Given the description of an element on the screen output the (x, y) to click on. 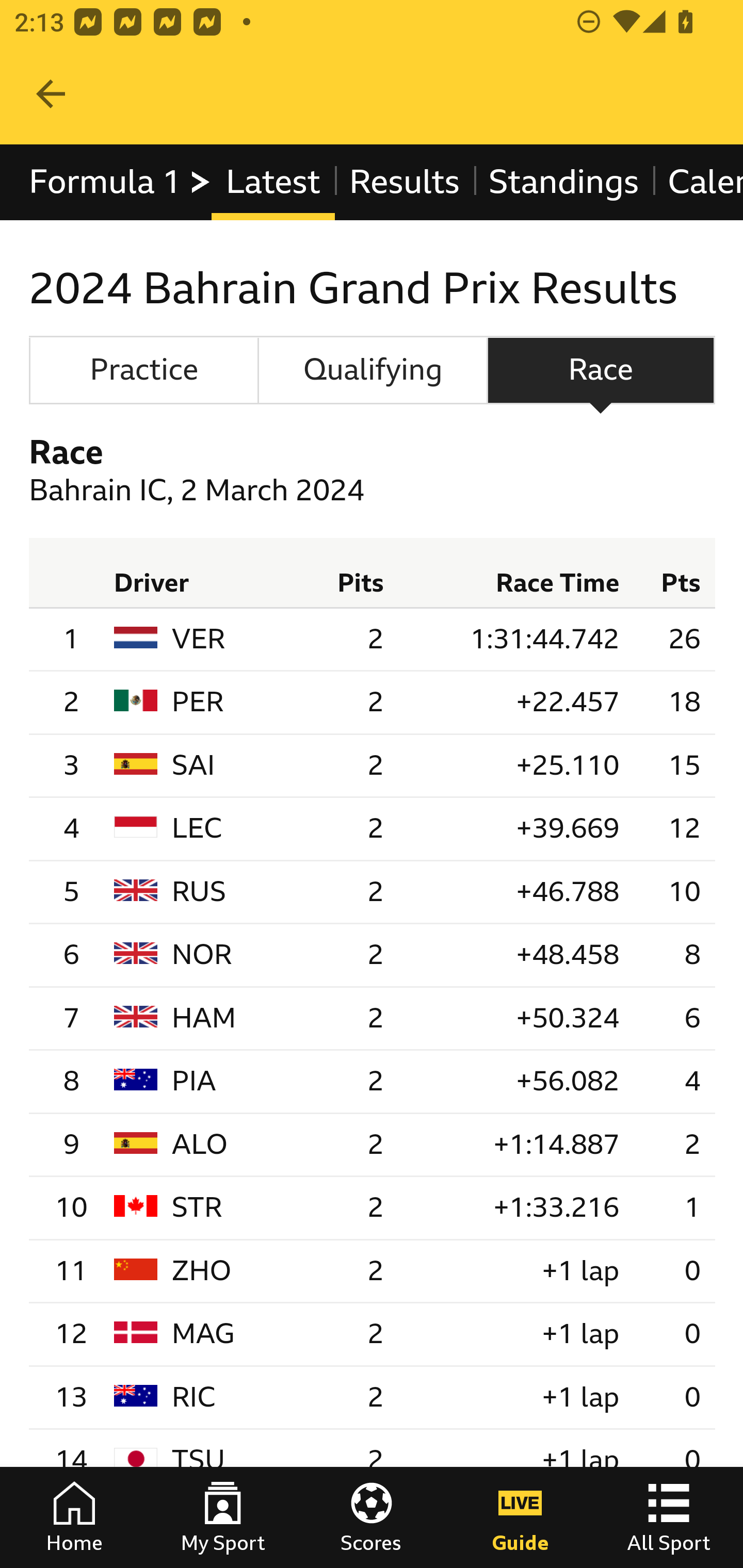
Navigate up (50, 93)
Formula 1  (120, 181)
Latest (272, 181)
Results (403, 181)
Standings (564, 181)
Calendar (697, 181)
Practice (142, 369)
Qualifying (372, 369)
Race (600, 369)
Home (74, 1517)
My Sport (222, 1517)
Scores (371, 1517)
All Sport (668, 1517)
